Given the description of an element on the screen output the (x, y) to click on. 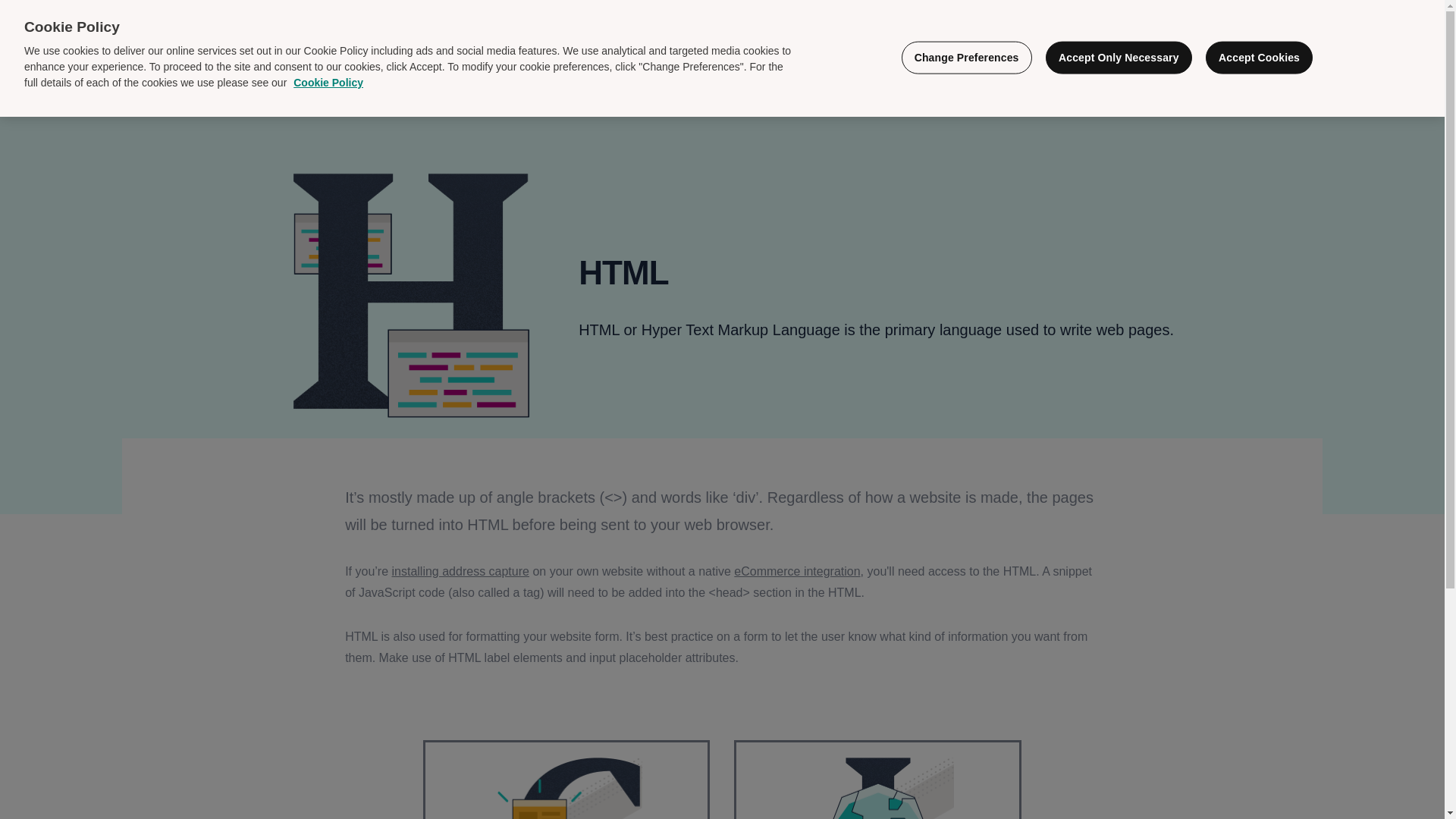
Accept Cookies (1259, 57)
Cookie Policy (328, 82)
Try Address Capture for Free (1336, 57)
Accept Only Necessary (1118, 57)
Change Preferences (966, 57)
eCommerce integration (796, 571)
installing address capture (459, 571)
